Given the description of an element on the screen output the (x, y) to click on. 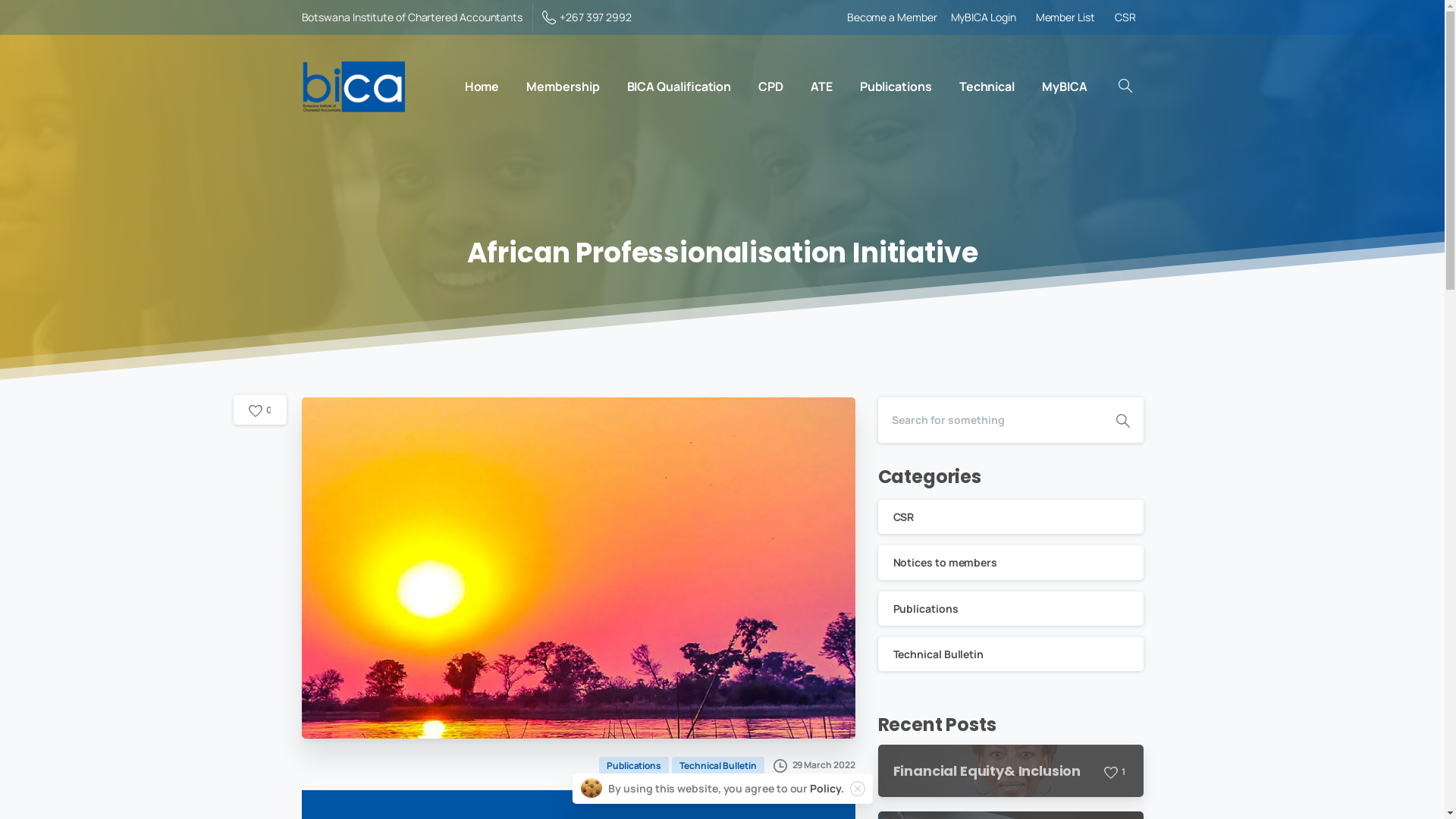
FAQ Element type: text (601, 516)
Become a Member Element type: text (892, 17)
Financial Equity& Inclusion Element type: text (987, 770)
CSR Element type: text (1010, 516)
MyBICA Login Element type: text (983, 17)
Home Element type: text (481, 86)
BICA Presidents Element type: text (383, 457)
Council Members Element type: text (383, 512)
Policy. Element type: text (826, 788)
Technical Bulletin Element type: text (1010, 654)
Terms and Conditions Element type: text (756, 679)
Member List Element type: text (1065, 17)
About Us Element type: text (383, 430)
Acutec Element type: text (914, 747)
CPD Element type: text (770, 86)
Enquiries & Complaints Element type: text (601, 472)
MyBICA Element type: text (1064, 86)
Technical Bulletin Element type: text (719, 764)
BICA Secretariat Element type: text (383, 484)
29 March 2022 Element type: text (814, 763)
Membership Element type: text (562, 86)
Publications Element type: text (895, 86)
Contact us Element type: text (788, 306)
BICA Qualification Element type: text (679, 86)
Publications Element type: text (1010, 608)
Publications Element type: text (635, 764)
+267 397 2992 Element type: text (586, 17)
BICA Events Element type: text (601, 428)
CSR Element type: text (1124, 17)
1 Element type: text (1115, 771)
0 Element type: text (259, 410)
Technical Element type: text (986, 86)
ATE Element type: text (821, 86)
Shape Element type: text (1122, 419)
Notices to members Element type: text (1010, 562)
Vacancies Element type: text (601, 494)
CSR Element type: text (383, 539)
Disclaimer Element type: text (657, 679)
Contact Us Element type: text (601, 450)
